Given the description of an element on the screen output the (x, y) to click on. 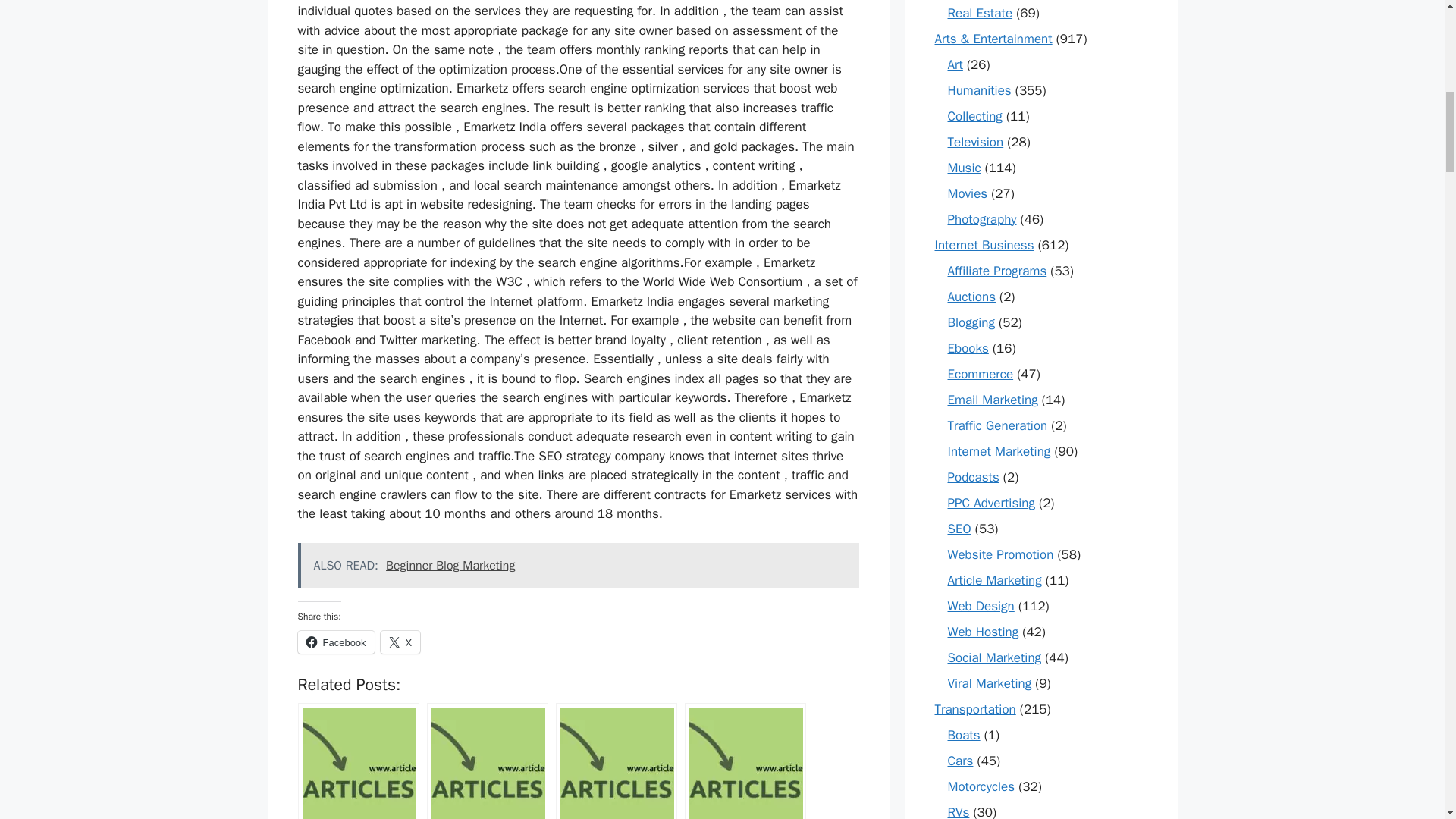
Click to share on Facebook (335, 641)
Increase Your Website Traffic through a Leading SEO company (358, 760)
X (400, 641)
The best seo training courses india for a perky career (616, 760)
Facebook (335, 641)
Increase Your Website Visibility with a Primed SEO Company (487, 760)
Click to share on X (400, 641)
Increase Your Website Traffic through a Leading SEO company (358, 760)
Increase Your Website Visibility with a Primed SEO Company (487, 760)
The best seo training courses india for a perky career (616, 760)
ALSO READ:  Beginner Blog Marketing (578, 565)
